Given the description of an element on the screen output the (x, y) to click on. 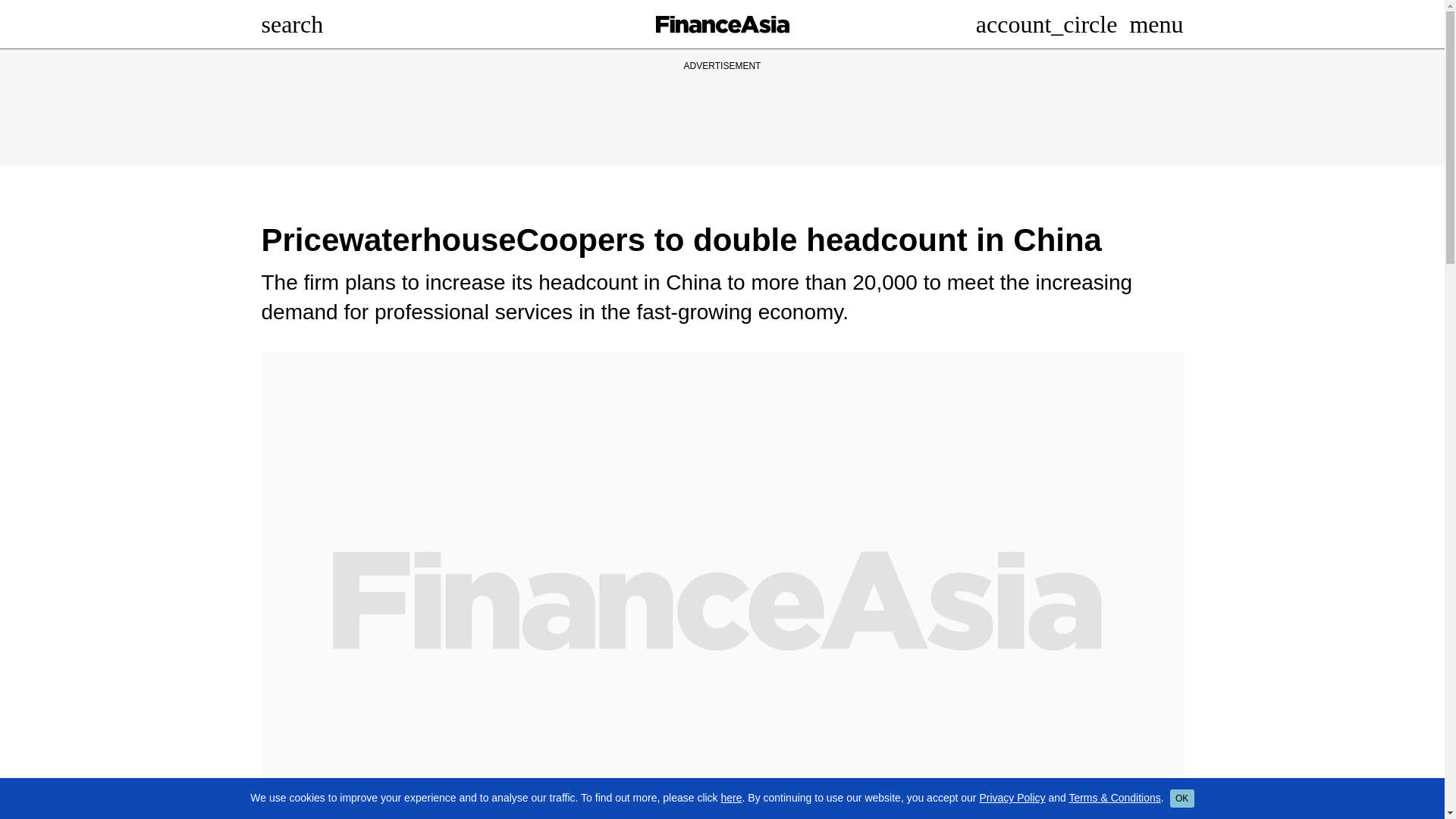
Privacy Policy (1011, 797)
Menu (1155, 24)
3rd party ad content (721, 107)
OK (1181, 798)
Search (291, 24)
Sign In (1046, 24)
here (730, 797)
